Given the description of an element on the screen output the (x, y) to click on. 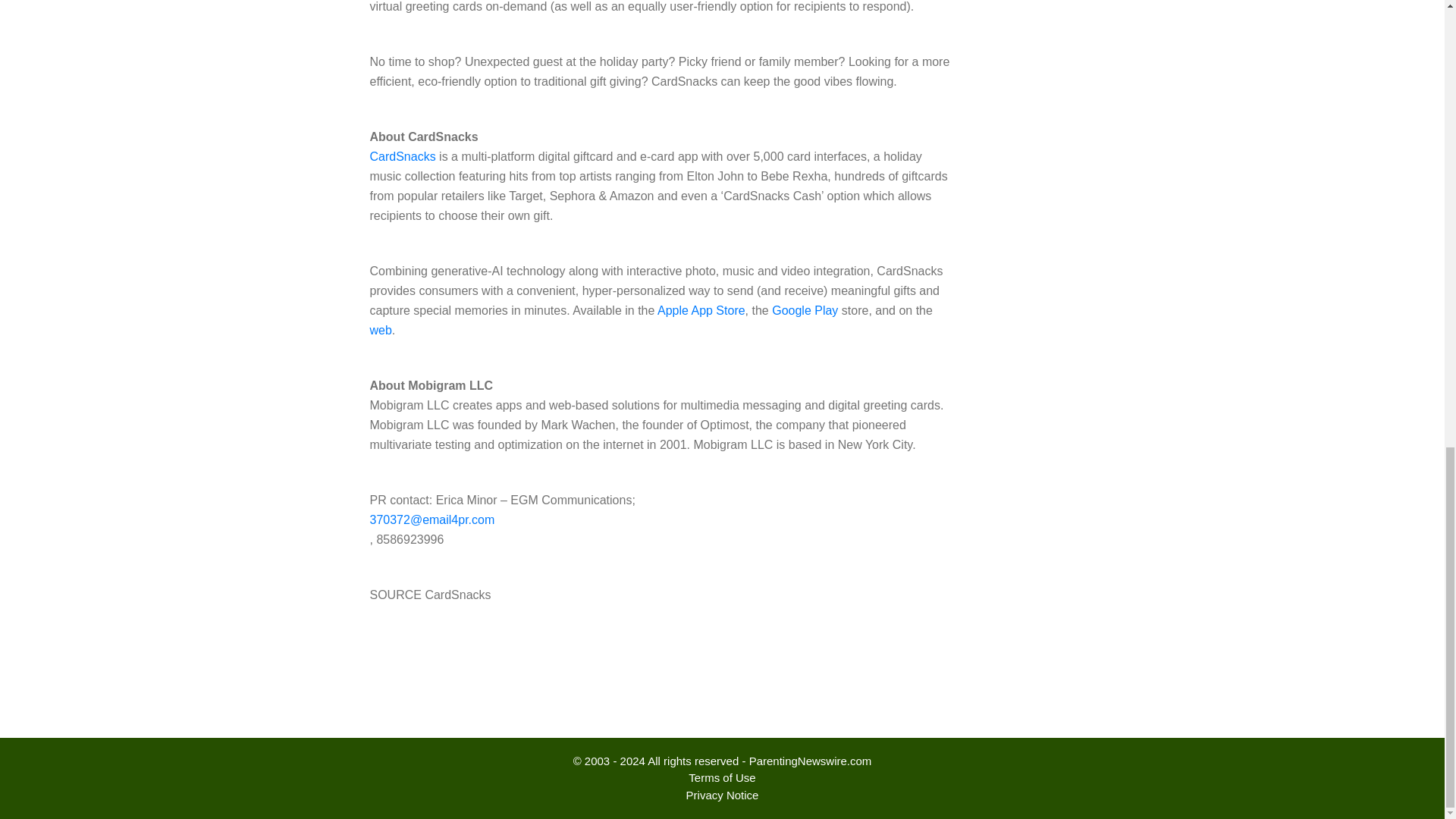
Google Play (804, 309)
Apple App Store (701, 309)
web (380, 329)
CardSnacks (402, 155)
Terms of Use (721, 777)
Privacy Notice (721, 794)
